Given the description of an element on the screen output the (x, y) to click on. 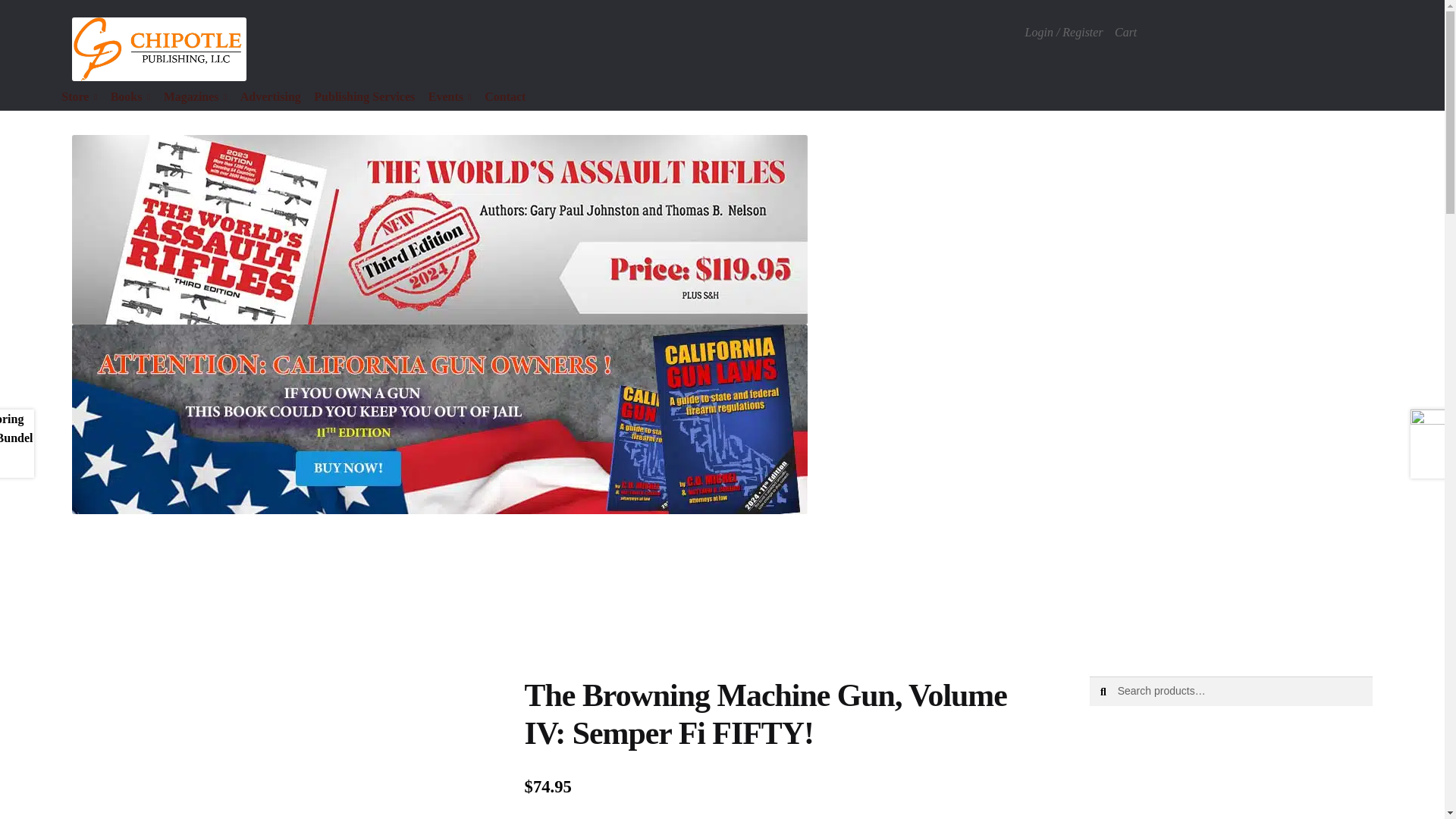
Cart (1126, 32)
Books (130, 97)
Events (449, 97)
Publishing Services (364, 97)
Store (79, 97)
Contact (504, 97)
Advertising (270, 97)
Magazines (195, 97)
